Given the description of an element on the screen output the (x, y) to click on. 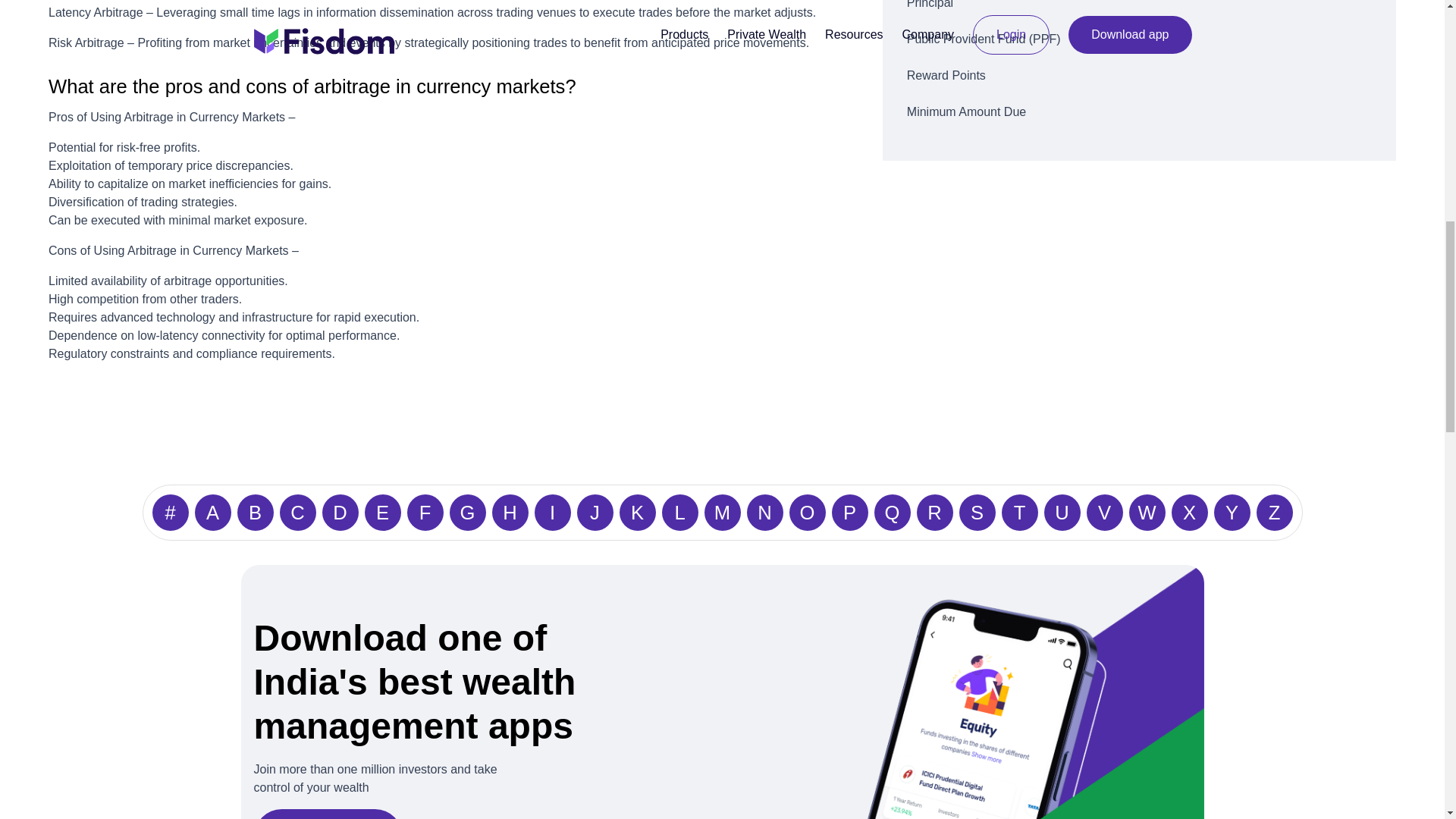
Principal (1139, 7)
Reward Points (1139, 75)
Minimum Amount Due (1139, 111)
A (211, 512)
